Given the description of an element on the screen output the (x, y) to click on. 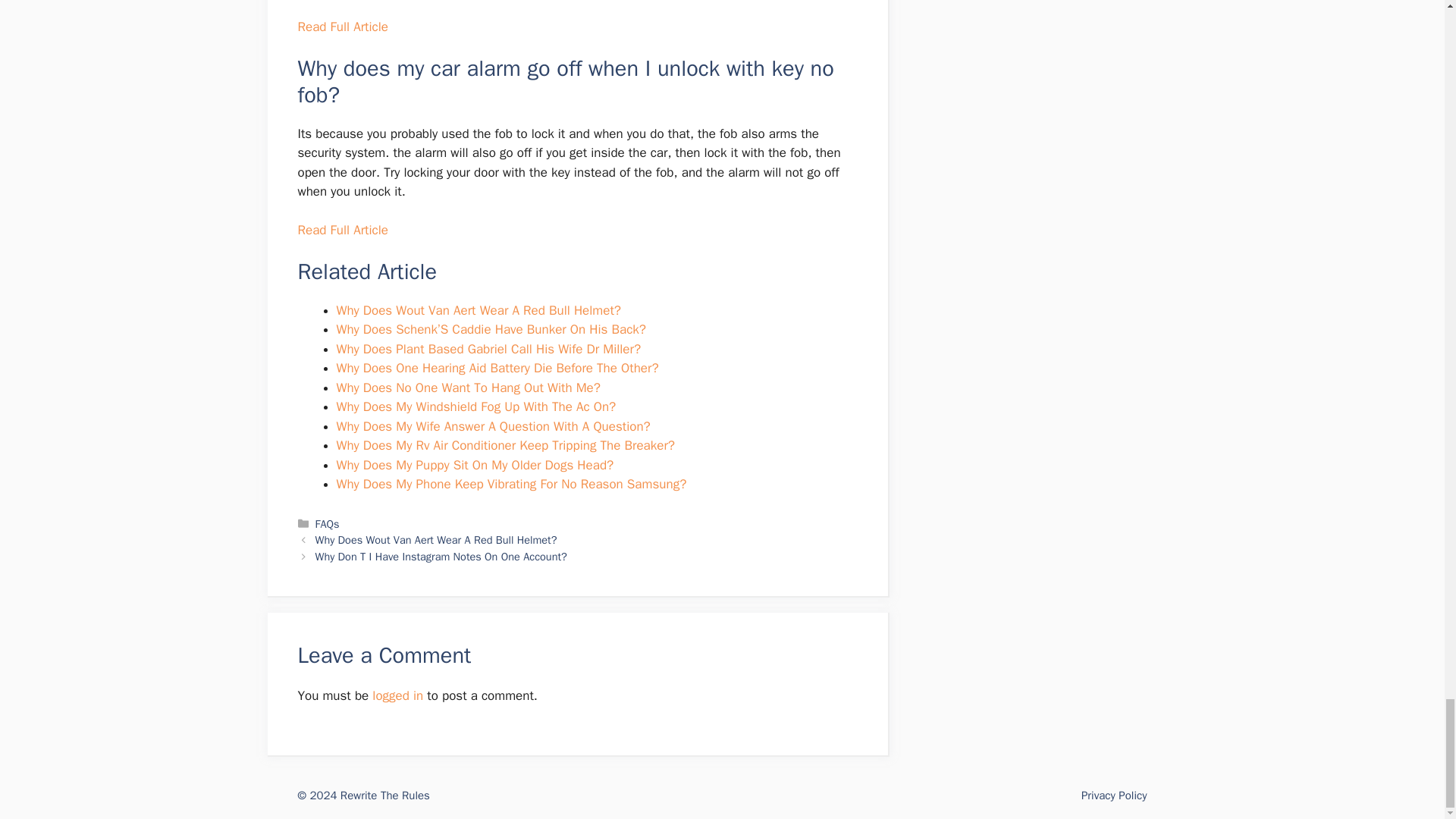
Why Does One Hearing Aid Battery Die Before The Other? (497, 367)
Why Does My Puppy Sit On My Older Dogs Head? (475, 465)
Read Full Article (342, 26)
FAQs (327, 523)
Why Does My Phone Keep Vibrating For No Reason Samsung? (511, 483)
Why Does Wout Van Aert Wear A Red Bull Helmet? (478, 310)
Why Does Wout Van Aert Wear A Red Bull Helmet? (436, 540)
Why Does Plant Based Gabriel Call His Wife Dr Miller? (489, 349)
Why Does My Windshield Fog Up With The Ac On? (475, 406)
Why Does My Rv Air Conditioner Keep Tripping The Breaker? (505, 445)
